Given the description of an element on the screen output the (x, y) to click on. 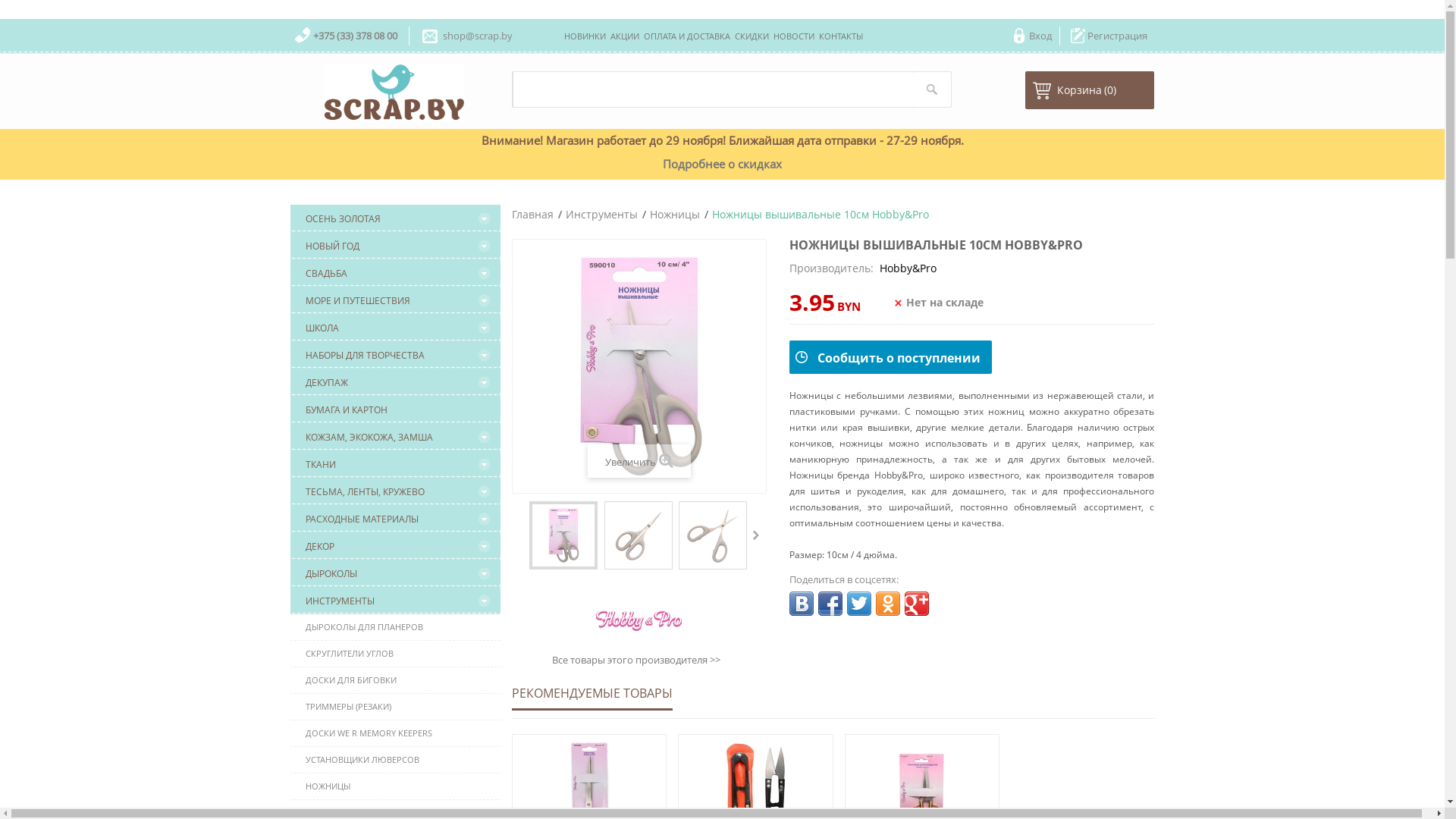
Search Element type: text (931, 89)
